Given the description of an element on the screen output the (x, y) to click on. 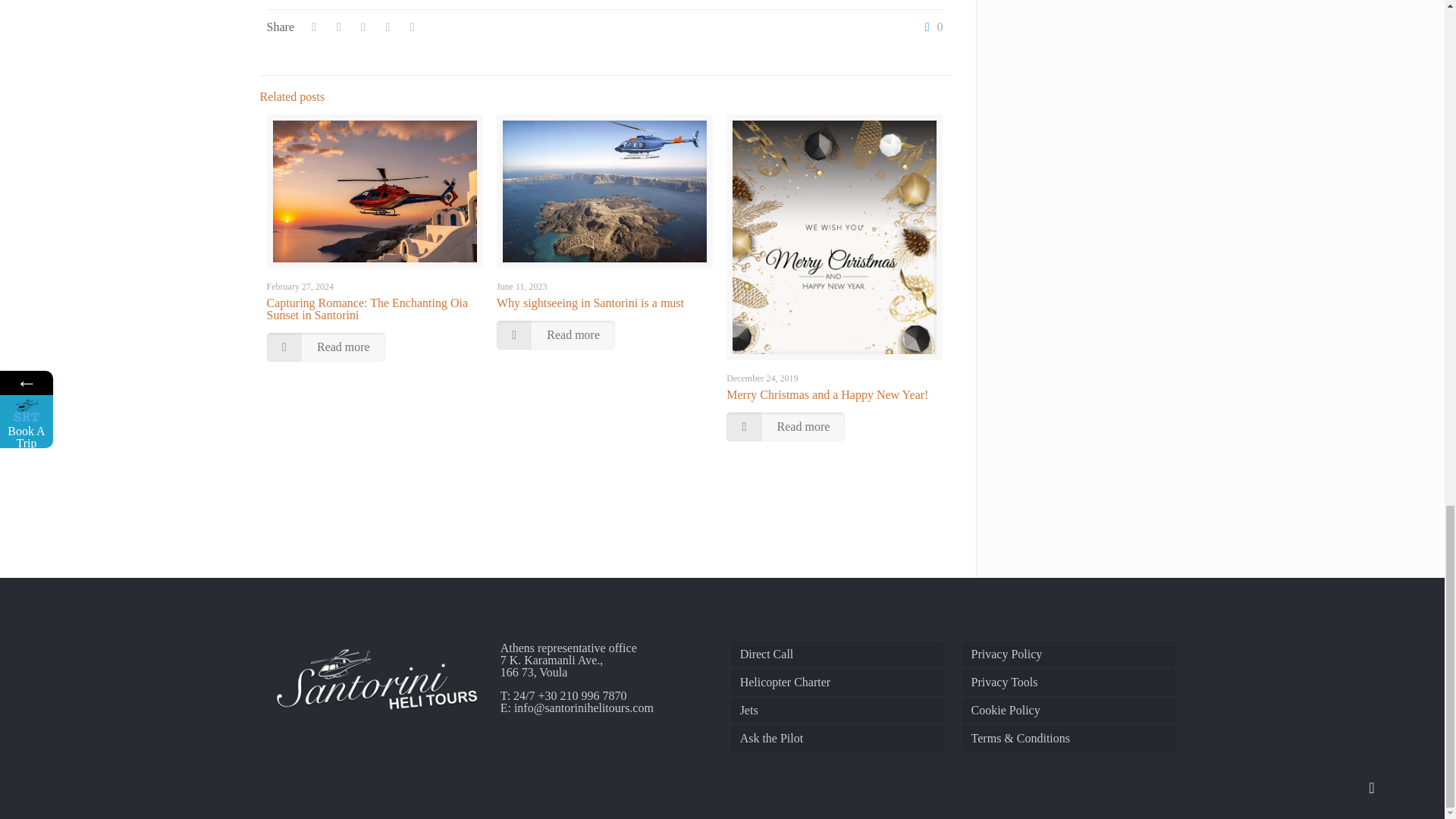
Read more (555, 335)
Capturing Romance: The Enchanting Oia Sunset in Santorini (366, 308)
Why sightseeing in Santorini is a must (590, 302)
Read more (325, 346)
0 (930, 27)
